Given the description of an element on the screen output the (x, y) to click on. 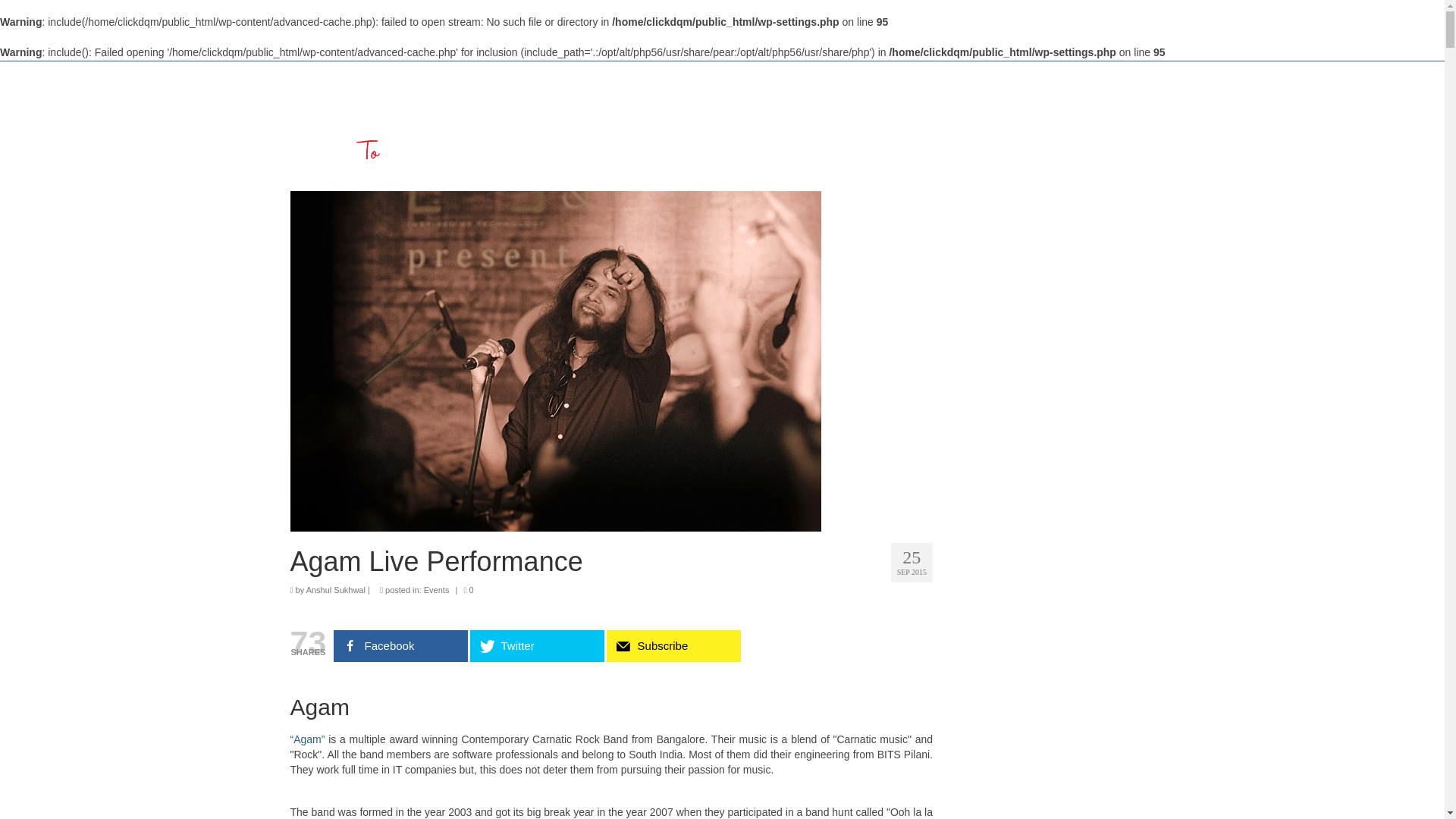
Twitter (537, 645)
Testimonials (1031, 126)
Subscribe (674, 645)
Facebook (400, 645)
Contact (1117, 126)
Blog (952, 126)
Packages (884, 126)
Carnatic Rock Band - Agam (306, 739)
Events (436, 589)
About (811, 126)
